Given the description of an element on the screen output the (x, y) to click on. 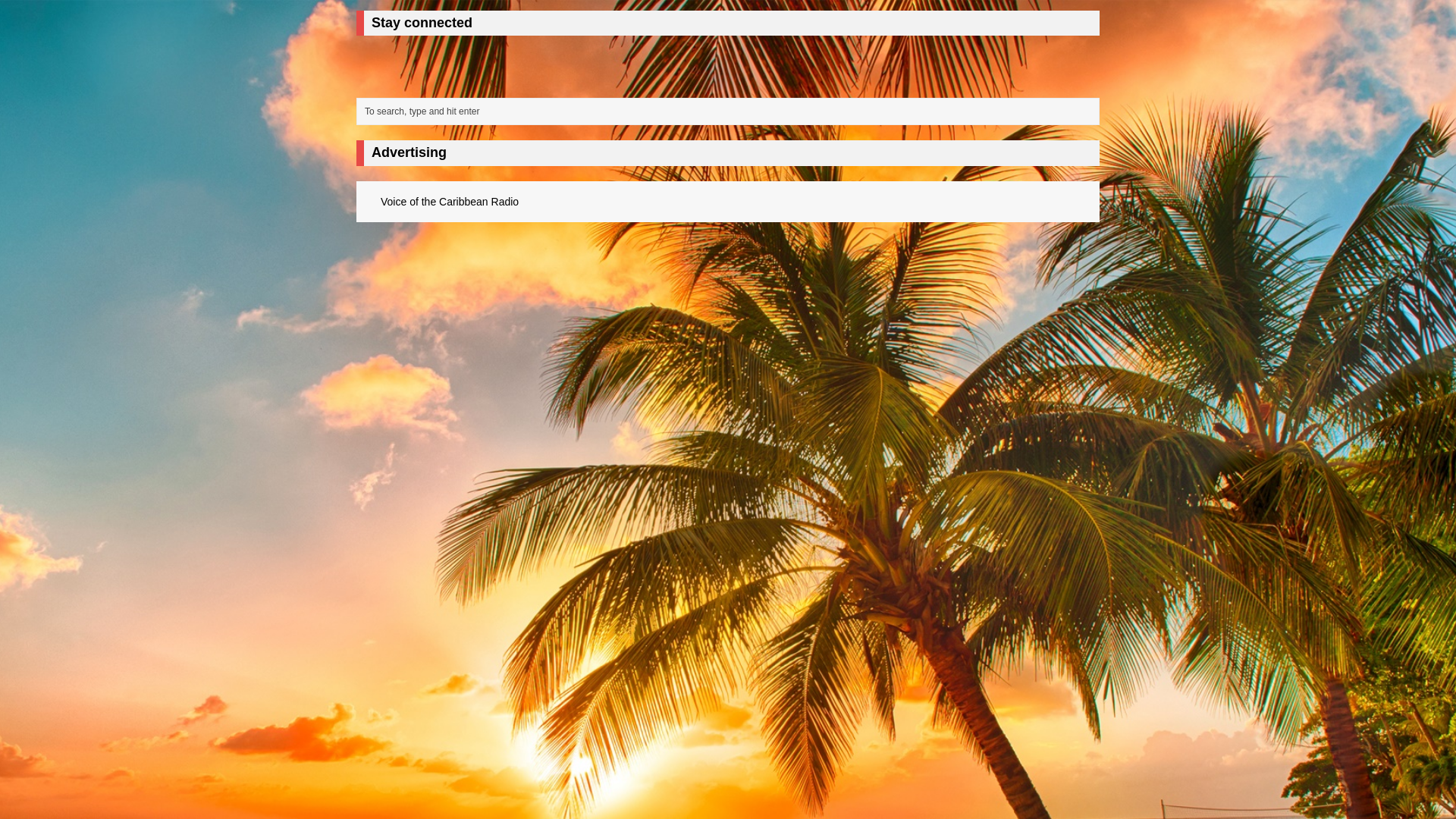
To search, type and hit enter (731, 111)
